Given the description of an element on the screen output the (x, y) to click on. 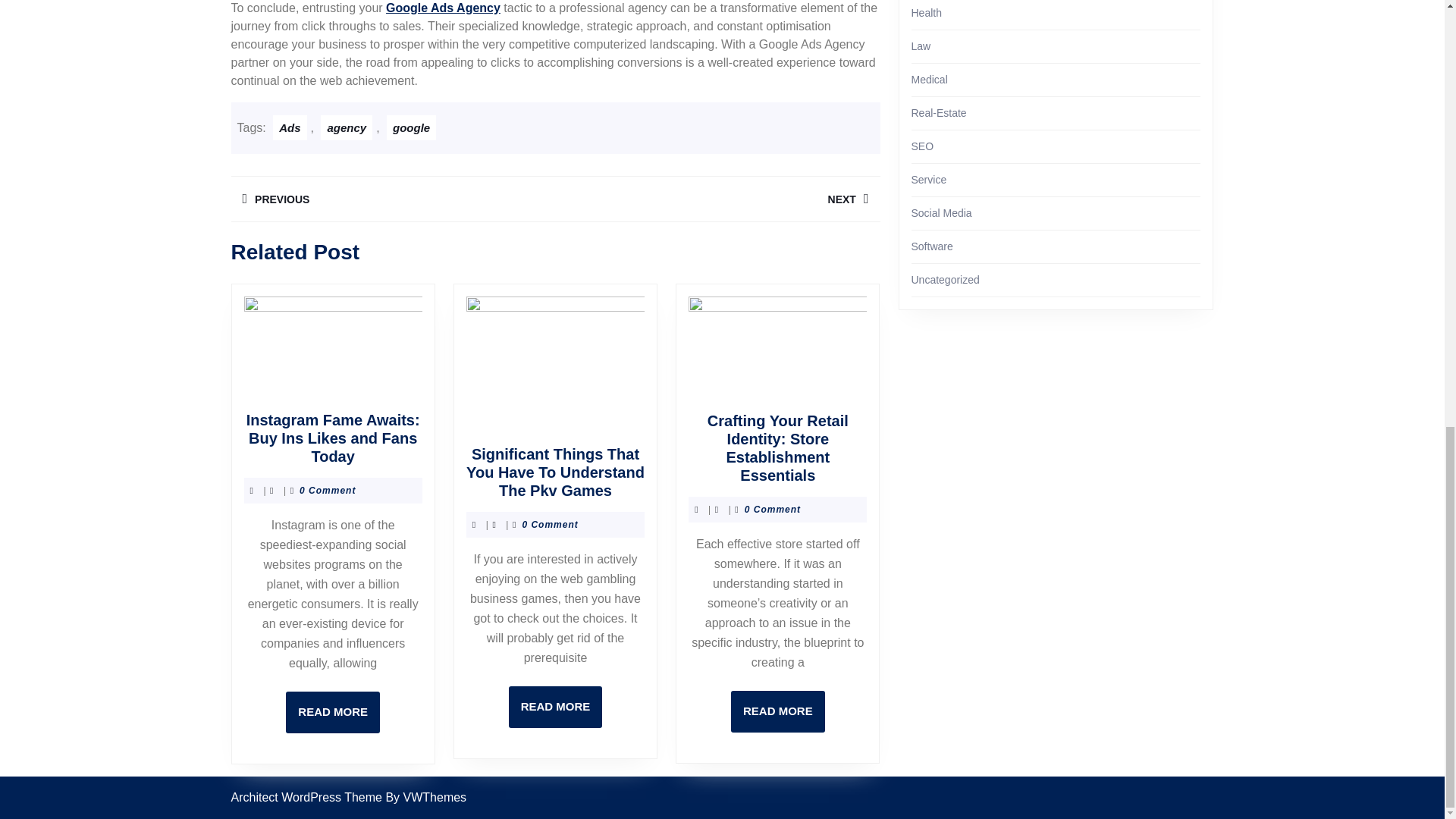
Ads (289, 127)
agency (346, 127)
google (411, 127)
Google Ads Agency (555, 707)
